Given the description of an element on the screen output the (x, y) to click on. 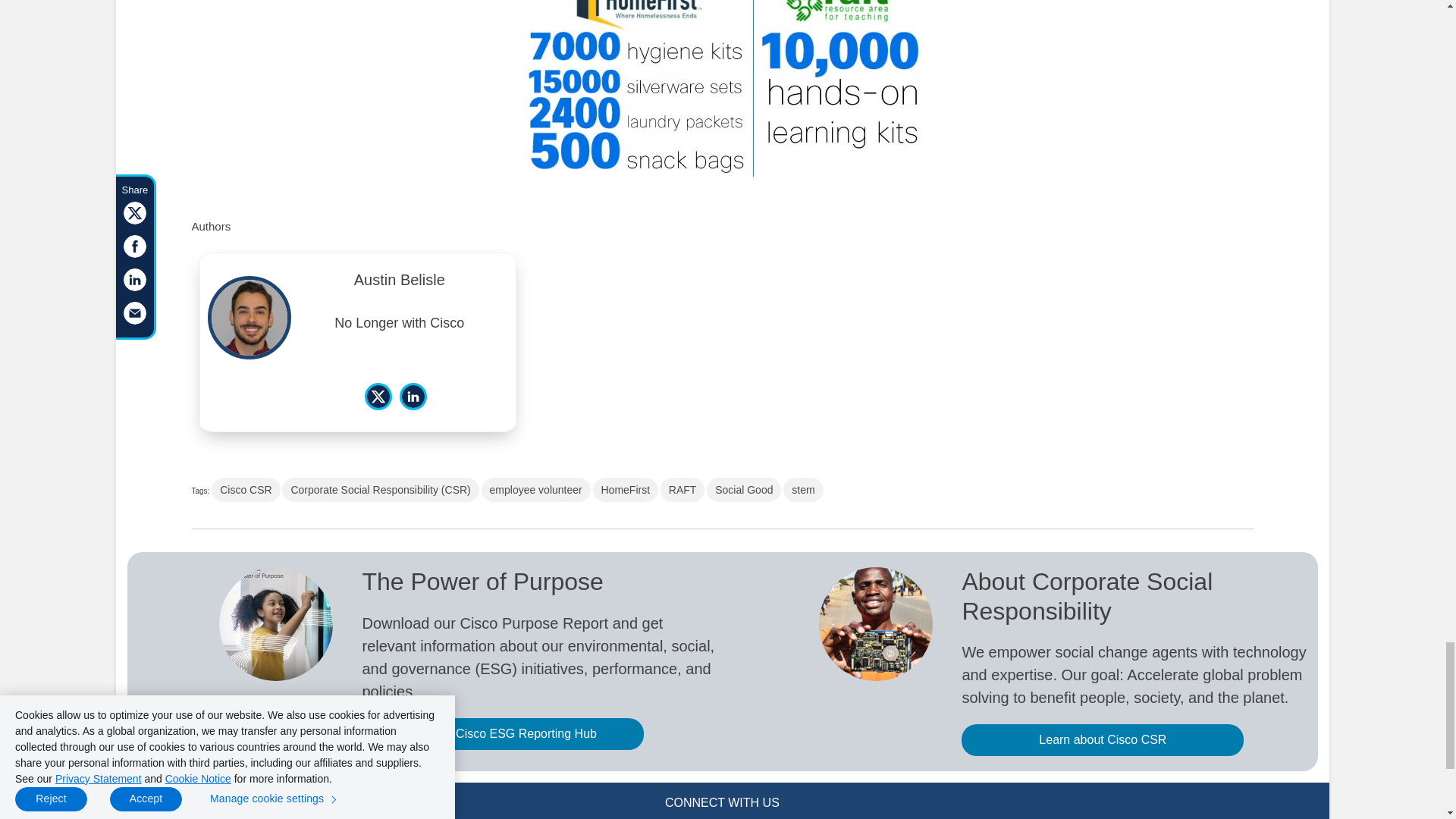
RAFT (682, 489)
Social Good (743, 489)
employee volunteer (536, 489)
HomeFirst (625, 489)
Austin Belisle (399, 283)
Cisco CSR (245, 489)
stem (802, 489)
Visit the Cisco ESG Reporting Hub (502, 734)
